Given the description of an element on the screen output the (x, y) to click on. 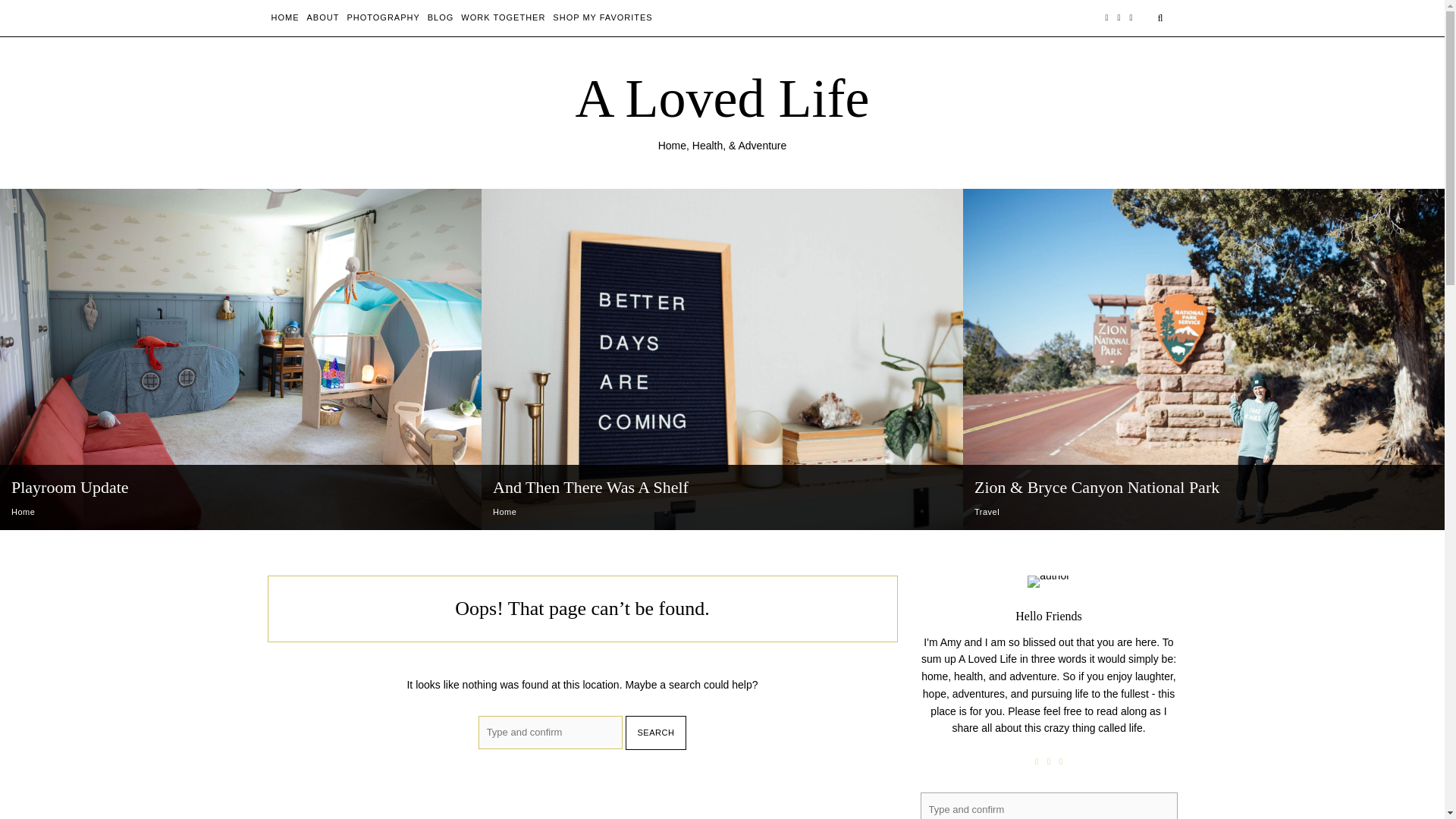
Playroom Update  (70, 486)
SHOP MY FAVORITES (602, 17)
BLOG (441, 17)
continue reading (50, 535)
PHOTOGRAPHY (382, 17)
Search for: (1048, 805)
ABOUT (322, 17)
continue reading (532, 535)
Search for: (551, 731)
And Then There Was A Shelf  (590, 486)
WORK TOGETHER (502, 17)
And Then There Was A Shelf (590, 486)
Search (656, 732)
Playroom Update (70, 486)
HOME (284, 17)
